Given the description of an element on the screen output the (x, y) to click on. 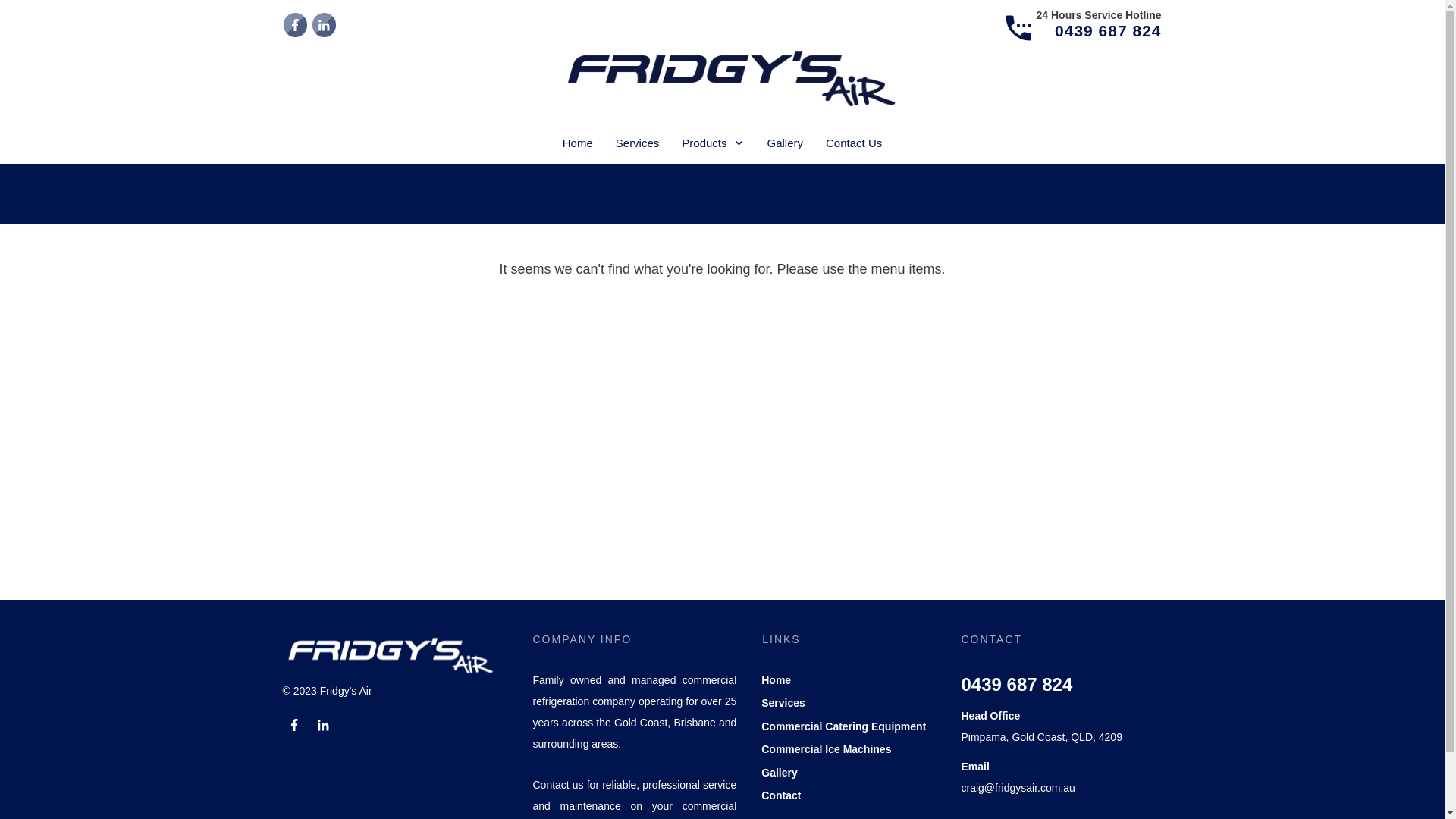
Commercial Catering Equipment Element type: text (843, 726)
Contact Us Element type: text (853, 142)
Home Element type: text (577, 142)
Services Element type: text (637, 142)
Commercial Ice Machines Element type: text (826, 748)
Contact Element type: text (780, 795)
Gallery Element type: text (779, 772)
Products Element type: text (712, 142)
Home Element type: text (775, 679)
Gallery Element type: text (785, 142)
Services Element type: text (783, 702)
